Given the description of an element on the screen output the (x, y) to click on. 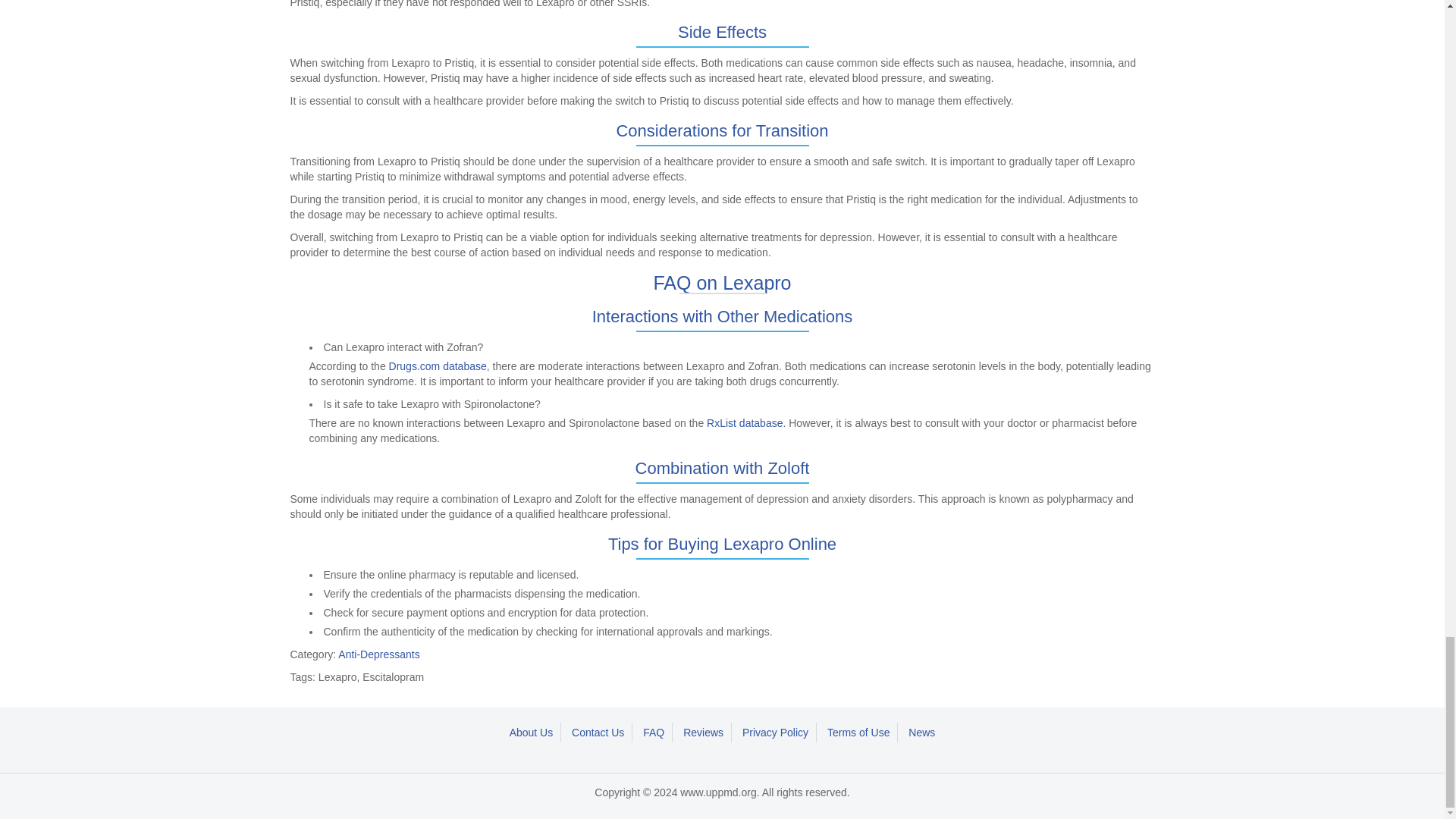
About Us (532, 732)
Reviews (703, 732)
Privacy Policy (775, 732)
FAQ (653, 732)
RxList database (744, 422)
News (921, 732)
Terms of Use (858, 732)
Drugs.com database (437, 366)
Anti-Depressants (378, 654)
Contact Us (597, 732)
